Given the description of an element on the screen output the (x, y) to click on. 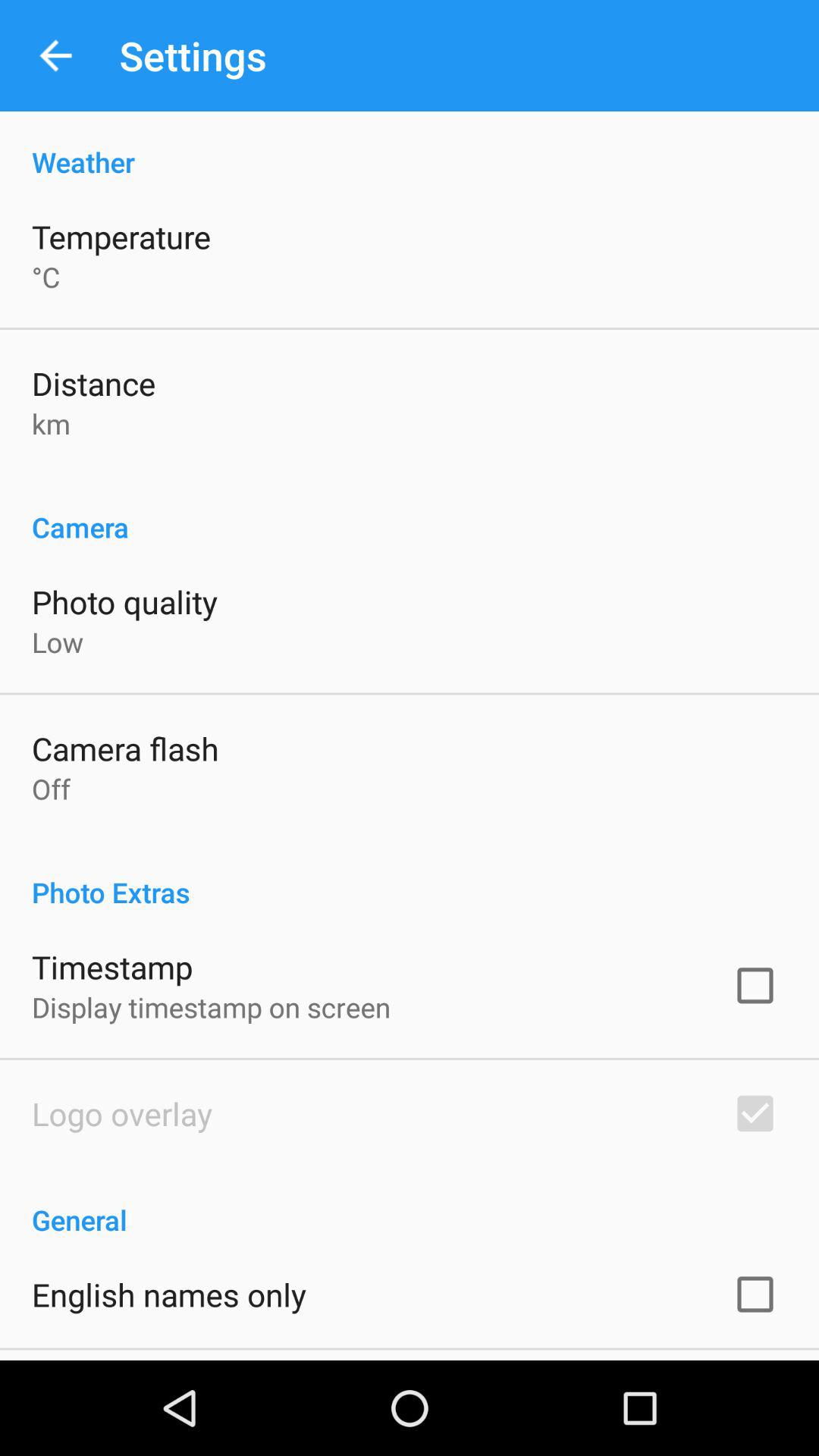
go back (55, 55)
